Given the description of an element on the screen output the (x, y) to click on. 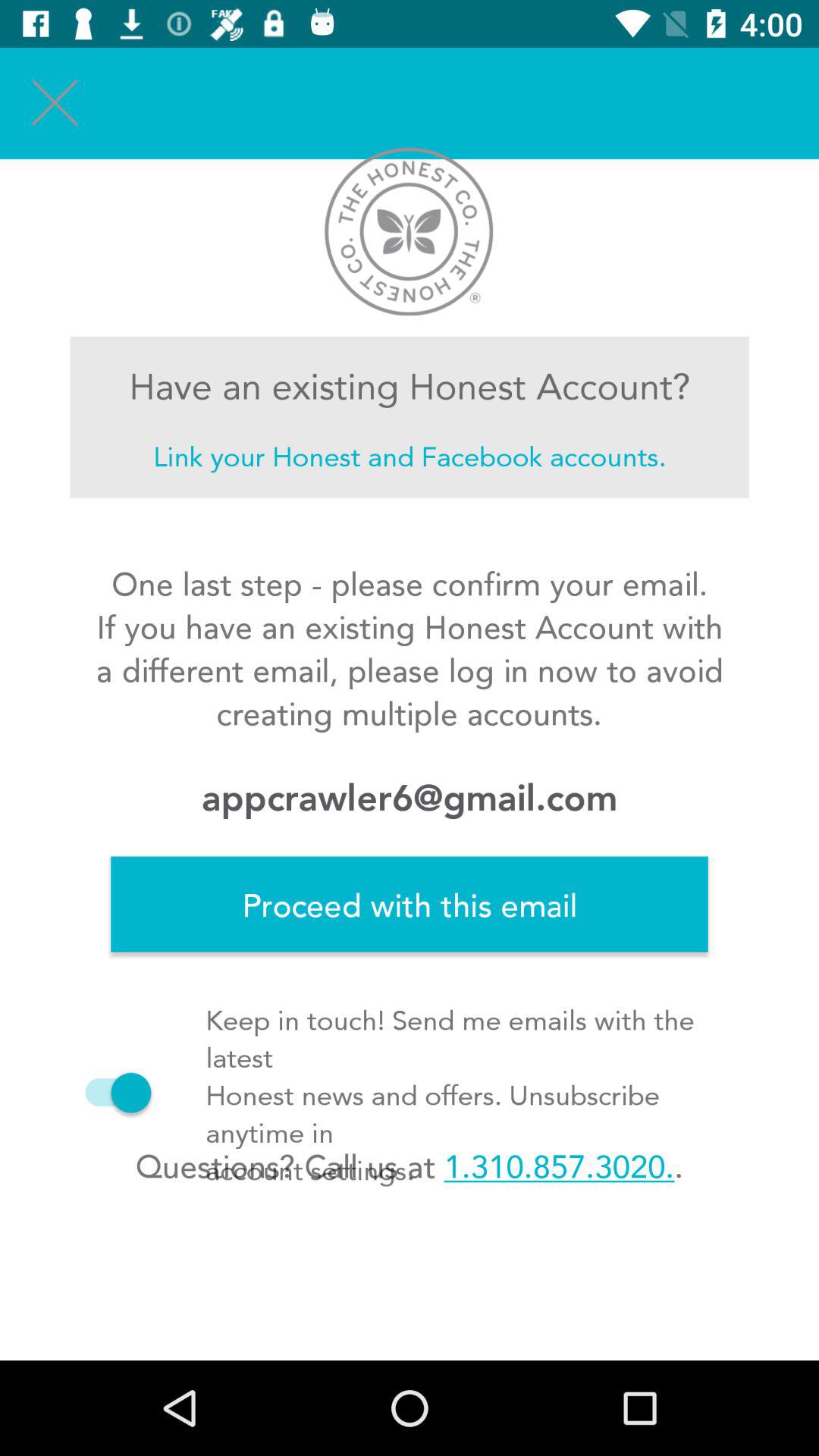
turn on proceed with this item (409, 904)
